Given the description of an element on the screen output the (x, y) to click on. 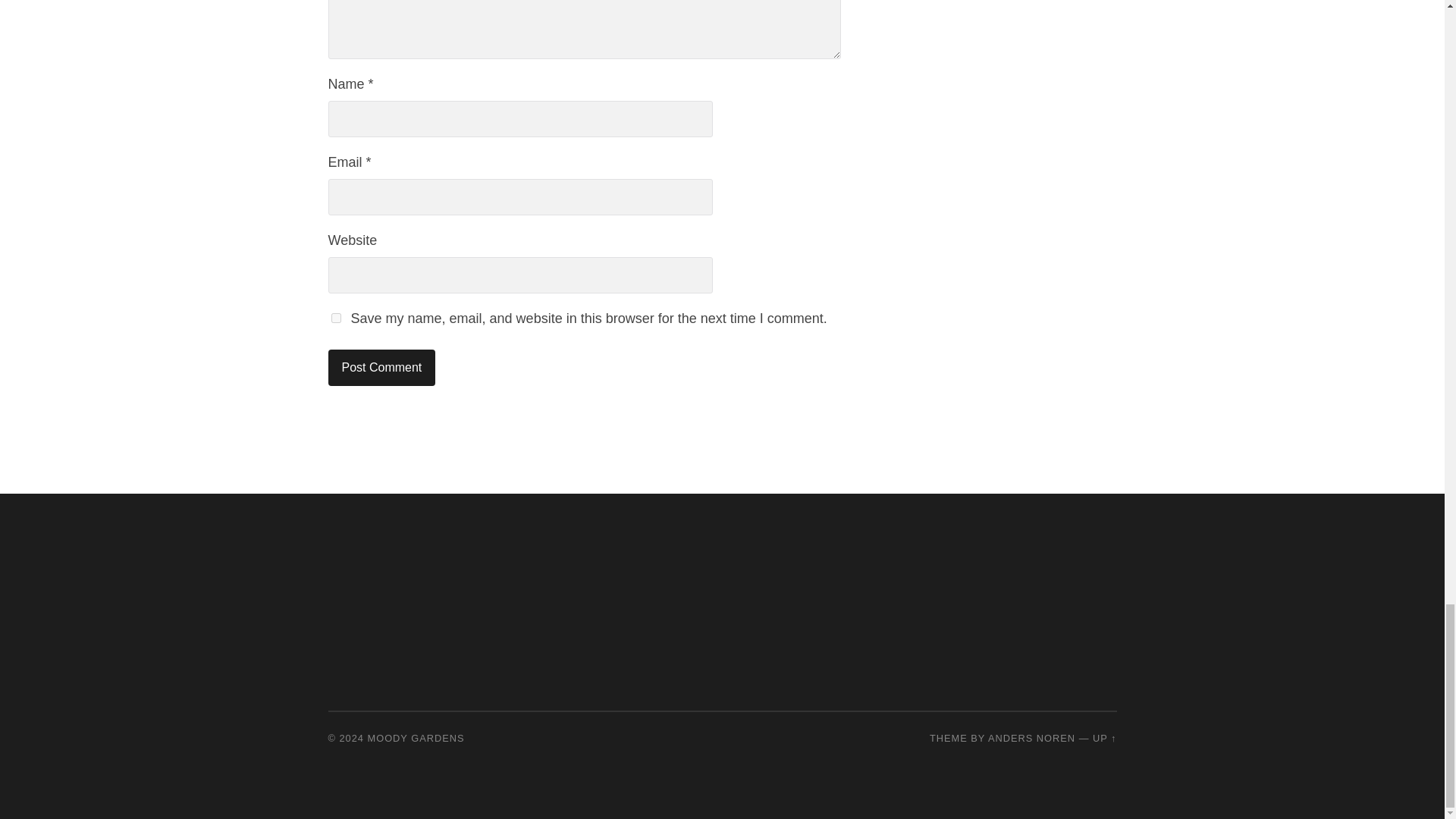
Post Comment (381, 367)
To the top (1104, 737)
yes (335, 317)
Post Comment (381, 367)
